Given the description of an element on the screen output the (x, y) to click on. 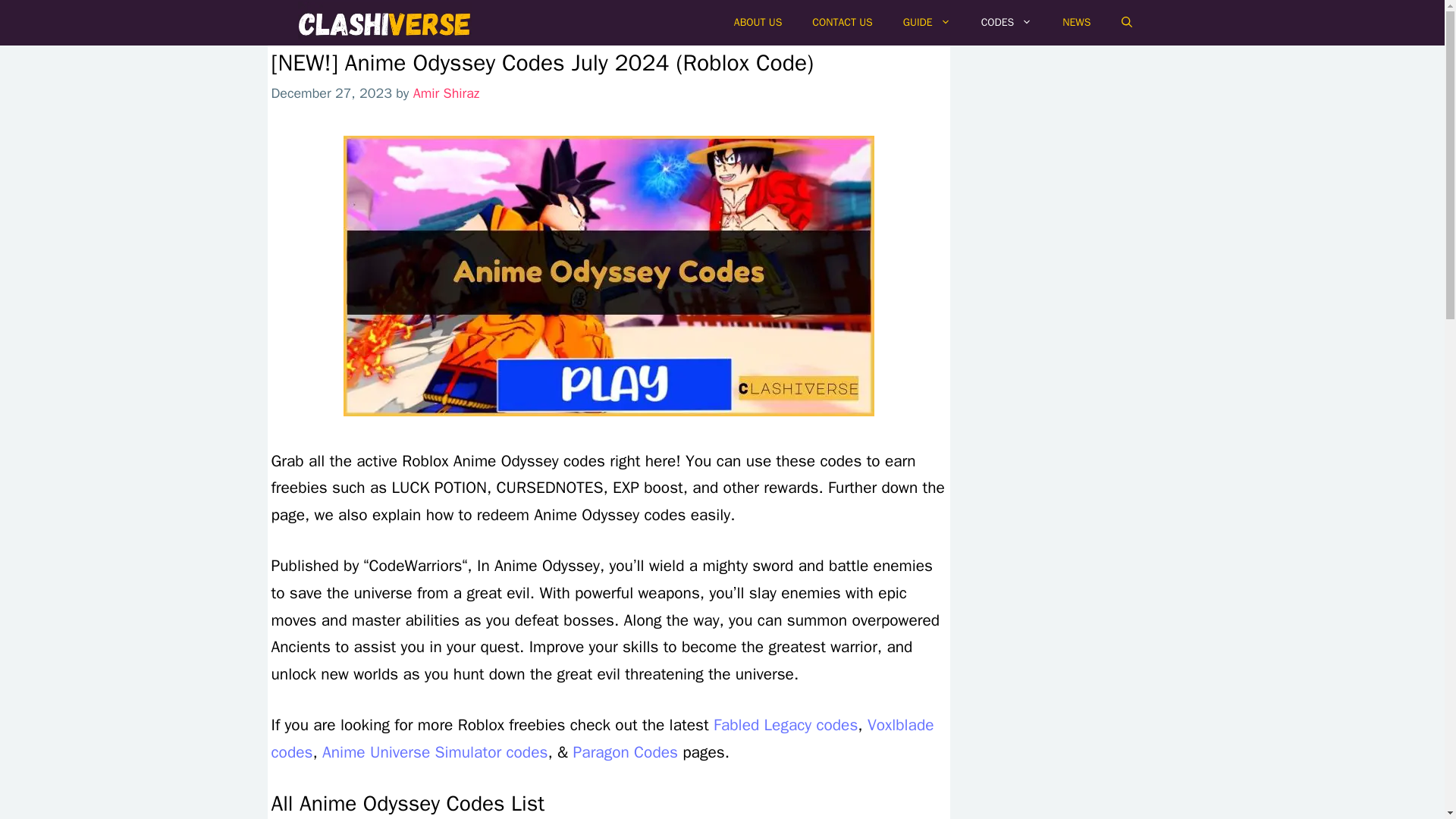
Voxlblade codes (602, 738)
CODES (1007, 22)
Amir Shiraz (446, 93)
GUIDE (927, 22)
Fabled Legacy codes (785, 724)
NEWS (1075, 22)
ABOUT US (758, 22)
View all posts by Amir Shiraz (446, 93)
Paragon Codes (625, 752)
Anime Universe Simulator codes (434, 752)
CONTACT US (841, 22)
